Given the description of an element on the screen output the (x, y) to click on. 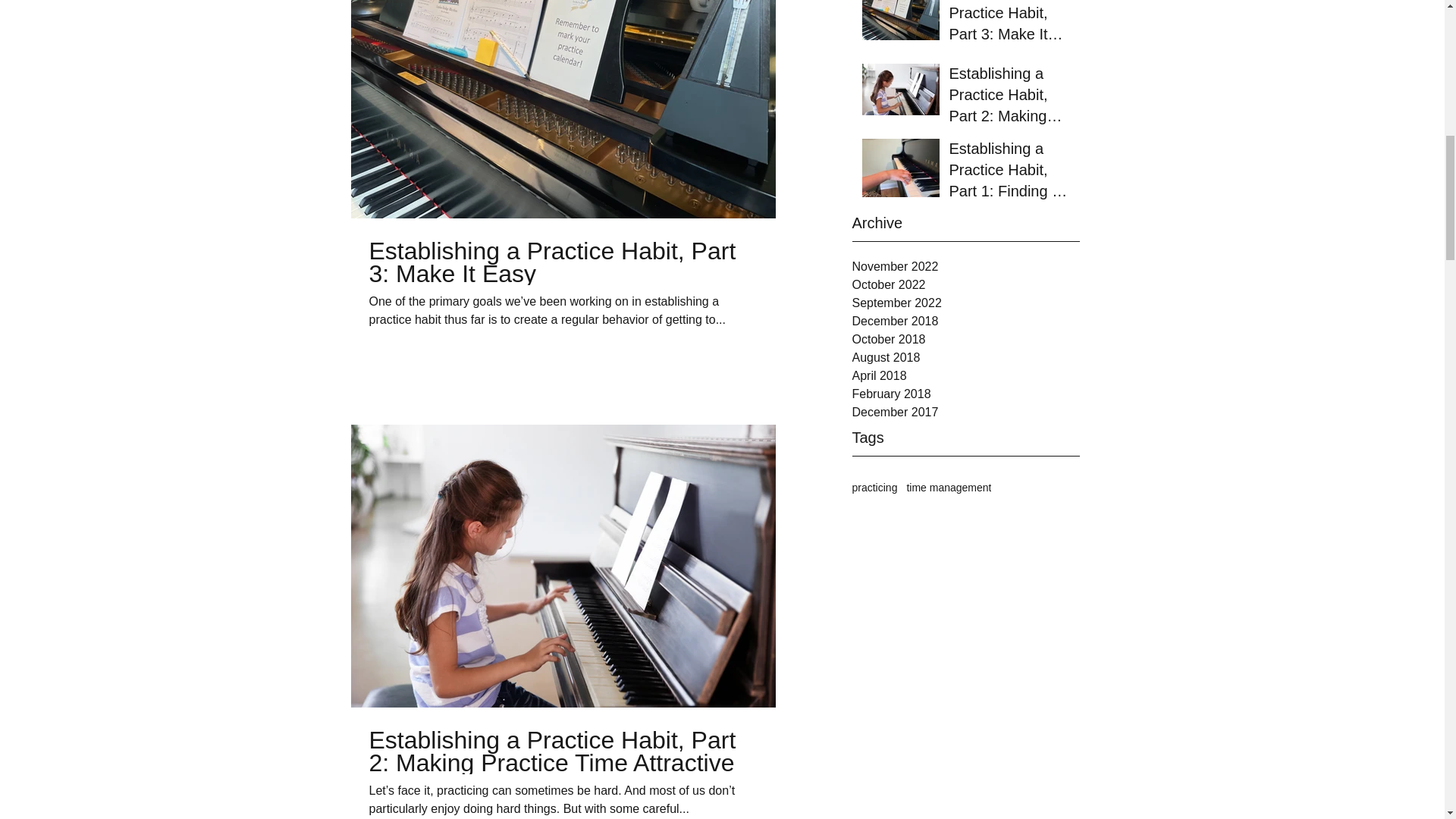
Establishing a Practice Habit, Part 3: Make It Easy (562, 262)
August 2018 (965, 357)
September 2022 (965, 303)
December 2017 (965, 412)
practicing (874, 487)
Establishing a Practice Habit, Part 3: Make It Easy (1009, 25)
December 2018 (965, 321)
February 2018 (965, 393)
November 2022 (965, 266)
October 2018 (965, 339)
October 2022 (965, 285)
time management (948, 487)
